Given the description of an element on the screen output the (x, y) to click on. 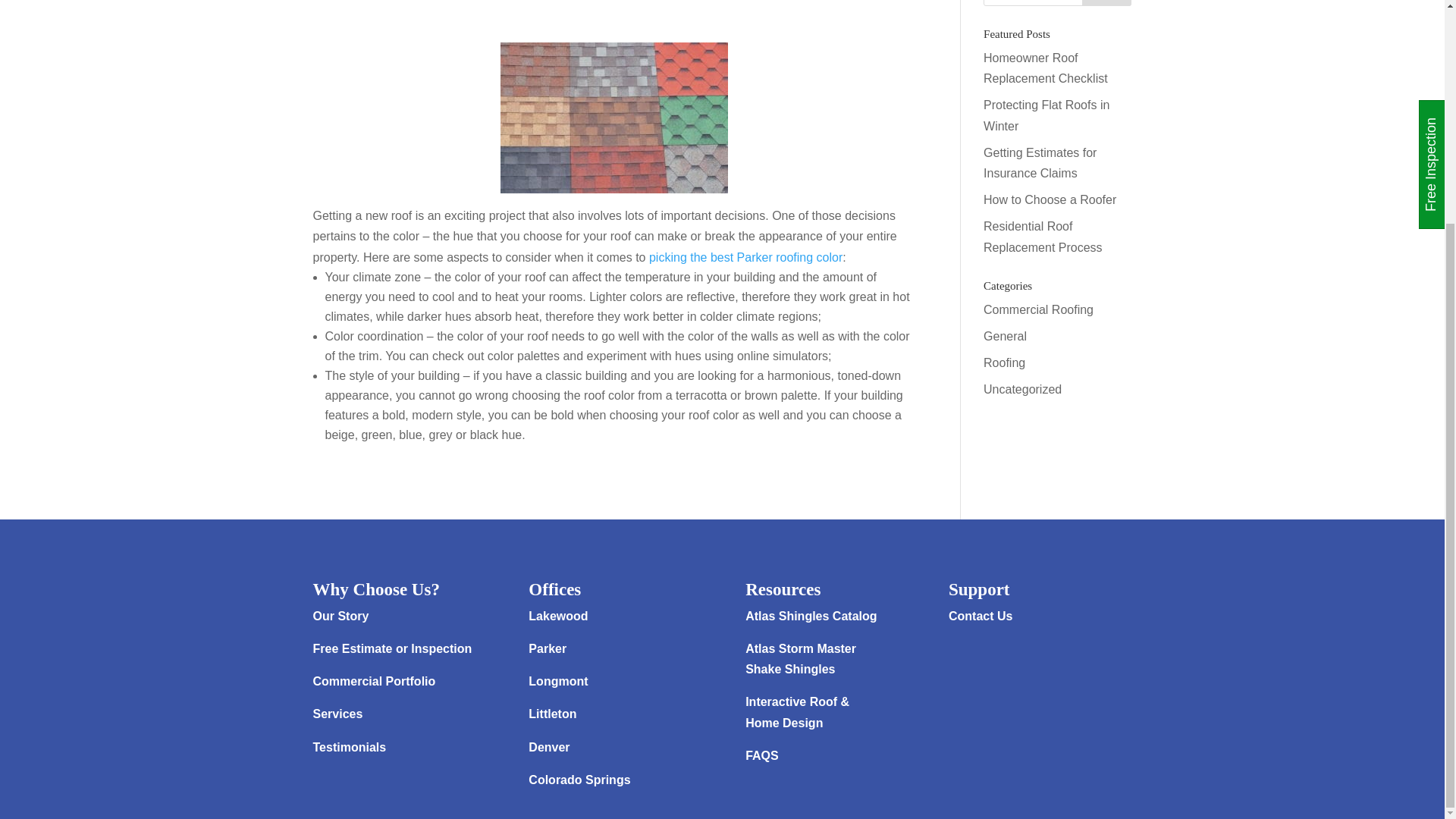
Residential Roof Replacement Process (1043, 236)
Uncategorized (1022, 389)
Search (1106, 2)
Commercial Roofing (1038, 309)
Getting Estimates for Insurance Claims (1040, 162)
Roofing (1004, 362)
How to Choose a Roofer (1050, 199)
Our Story (340, 615)
Search (1106, 2)
General (1005, 336)
